Given the description of an element on the screen output the (x, y) to click on. 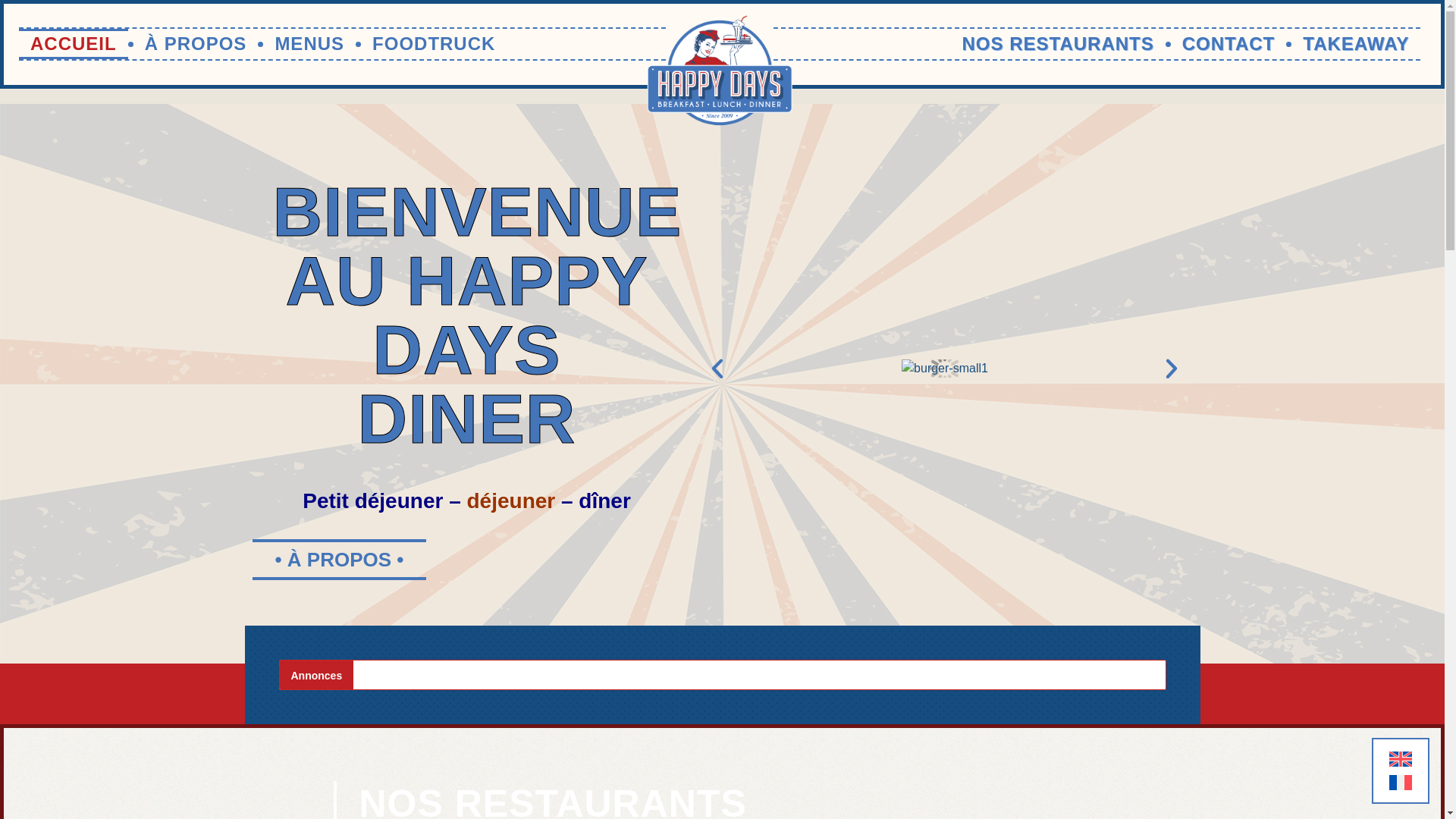
ACCUEIL Element type: text (73, 43)
NOS RESTAURANTS Element type: text (1057, 43)
TAKEAWAY Element type: text (1355, 43)
MENUS Element type: text (309, 43)
CONTACT Element type: text (1228, 43)
FOODTRUCK Element type: text (433, 43)
